Given the description of an element on the screen output the (x, y) to click on. 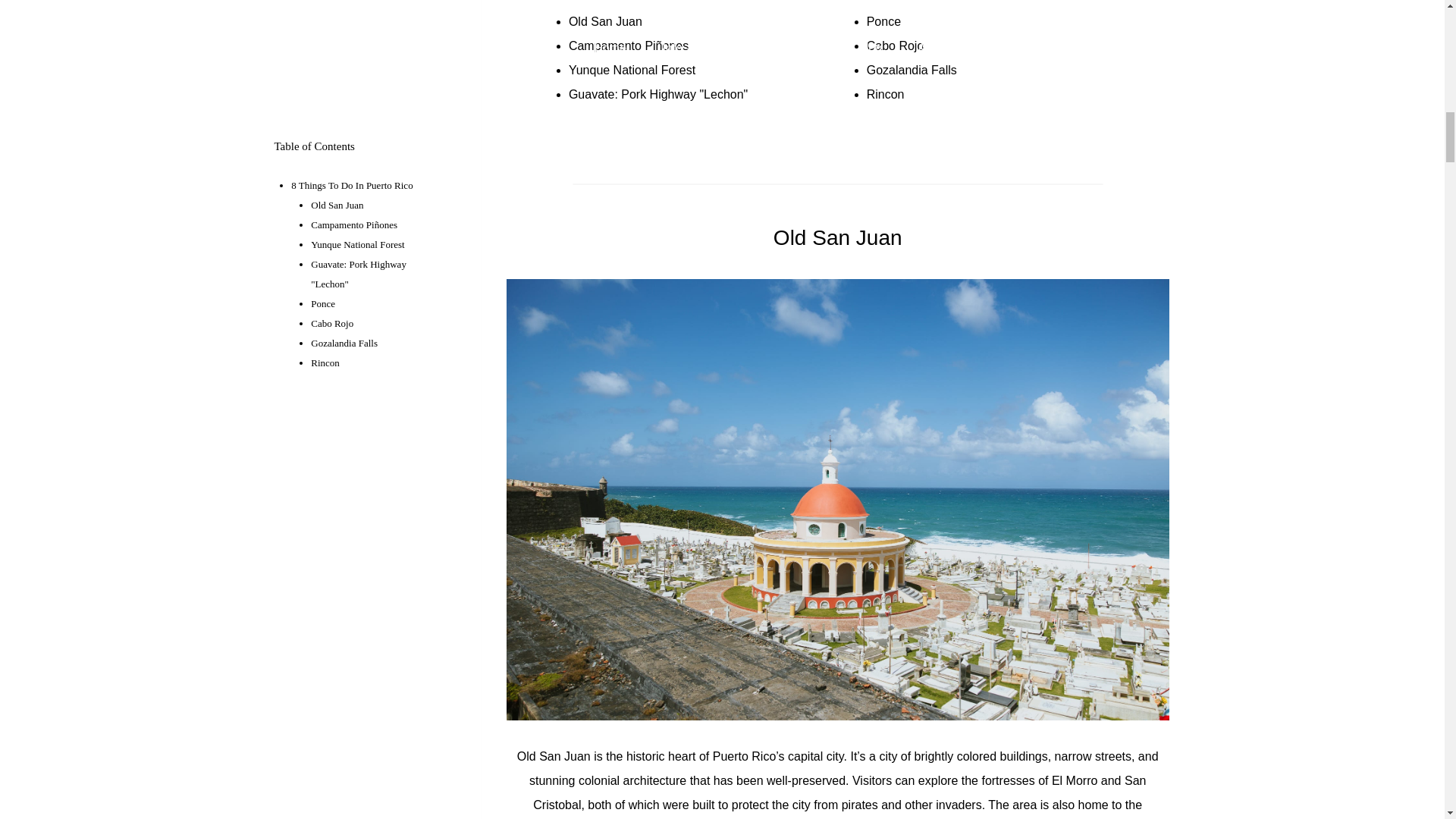
Ponce (883, 21)
Gozalandia Falls (911, 69)
Cabo Rojo (895, 45)
Guavate: Pork Highway "Lechon" (658, 93)
Rincon (885, 93)
Old San Juan (605, 21)
Yunque National Forest (632, 69)
